Given the description of an element on the screen output the (x, y) to click on. 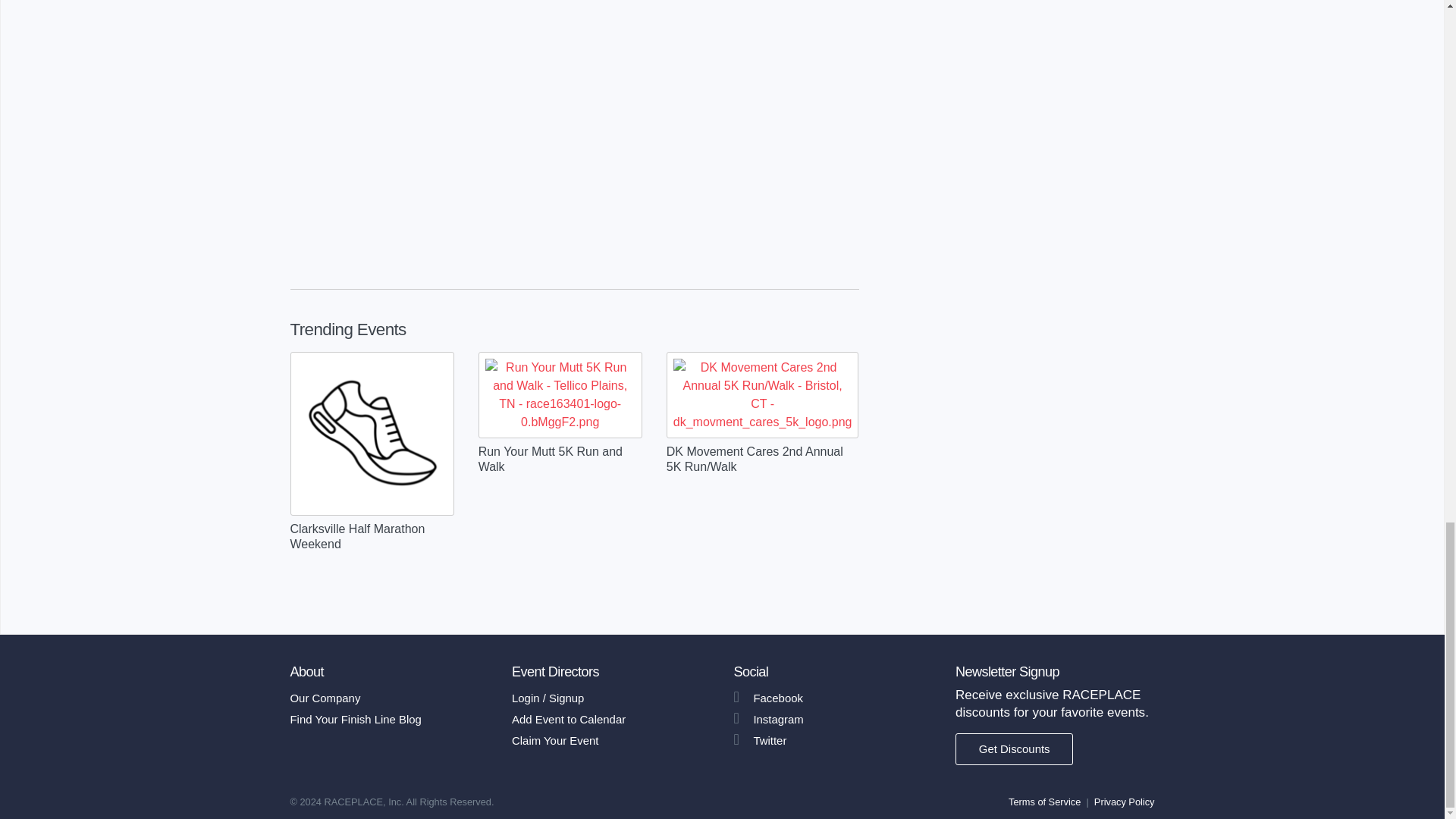
Clarksville Half Marathon Weekend on RACEPLACE.com (371, 433)
Run Your Mutt 5K Run and Walk on RACEPLACE.com (559, 394)
